Given the description of an element on the screen output the (x, y) to click on. 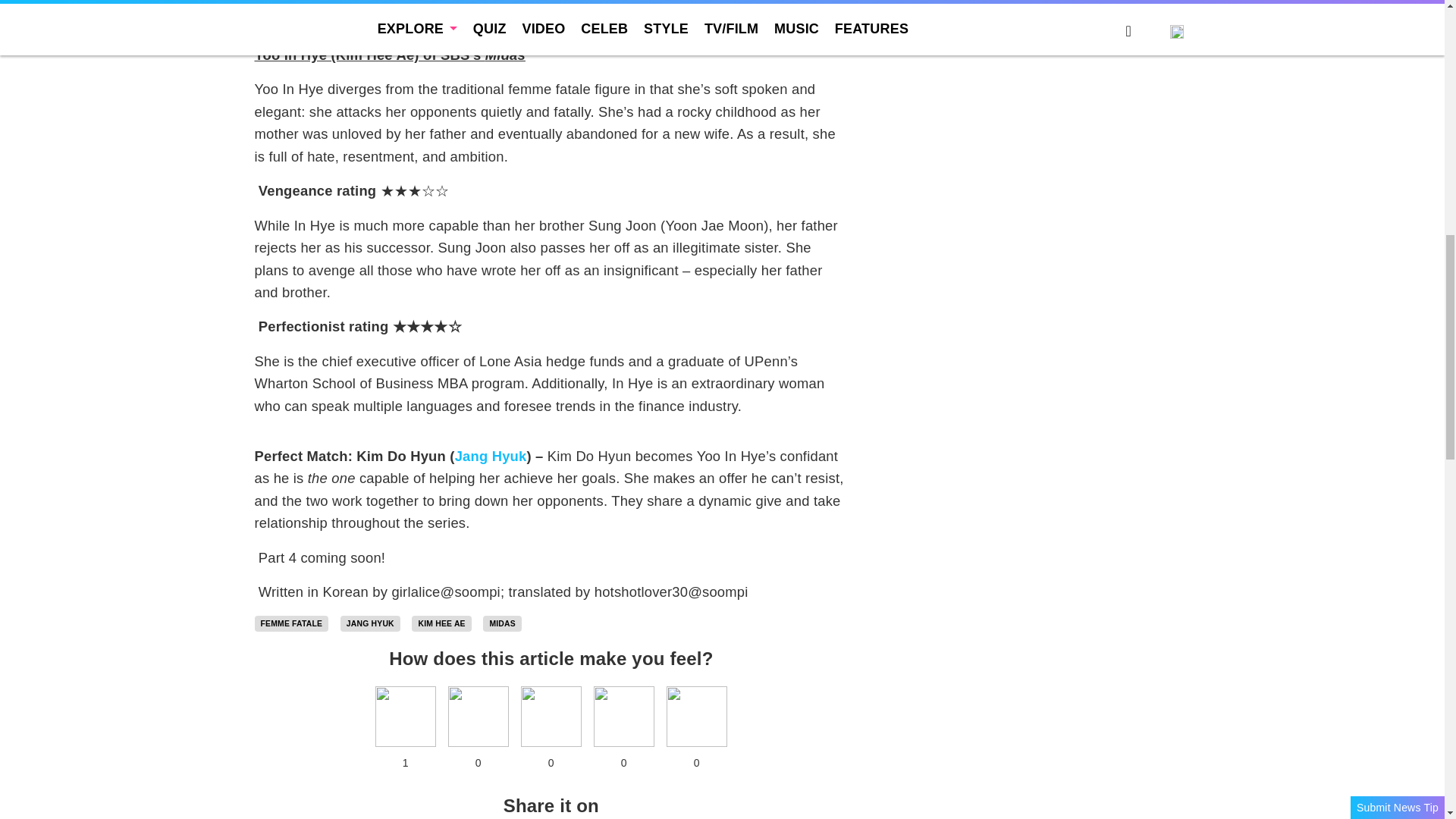
Jang Hyuk (370, 623)
Kim Hee Ae (441, 623)
Jang Hyuk (490, 455)
Crying (623, 716)
JANG HYUK (370, 623)
Heart (405, 716)
LOL (478, 716)
KIM HEE AE (441, 623)
OMG (696, 716)
Fire (550, 716)
